Given the description of an element on the screen output the (x, y) to click on. 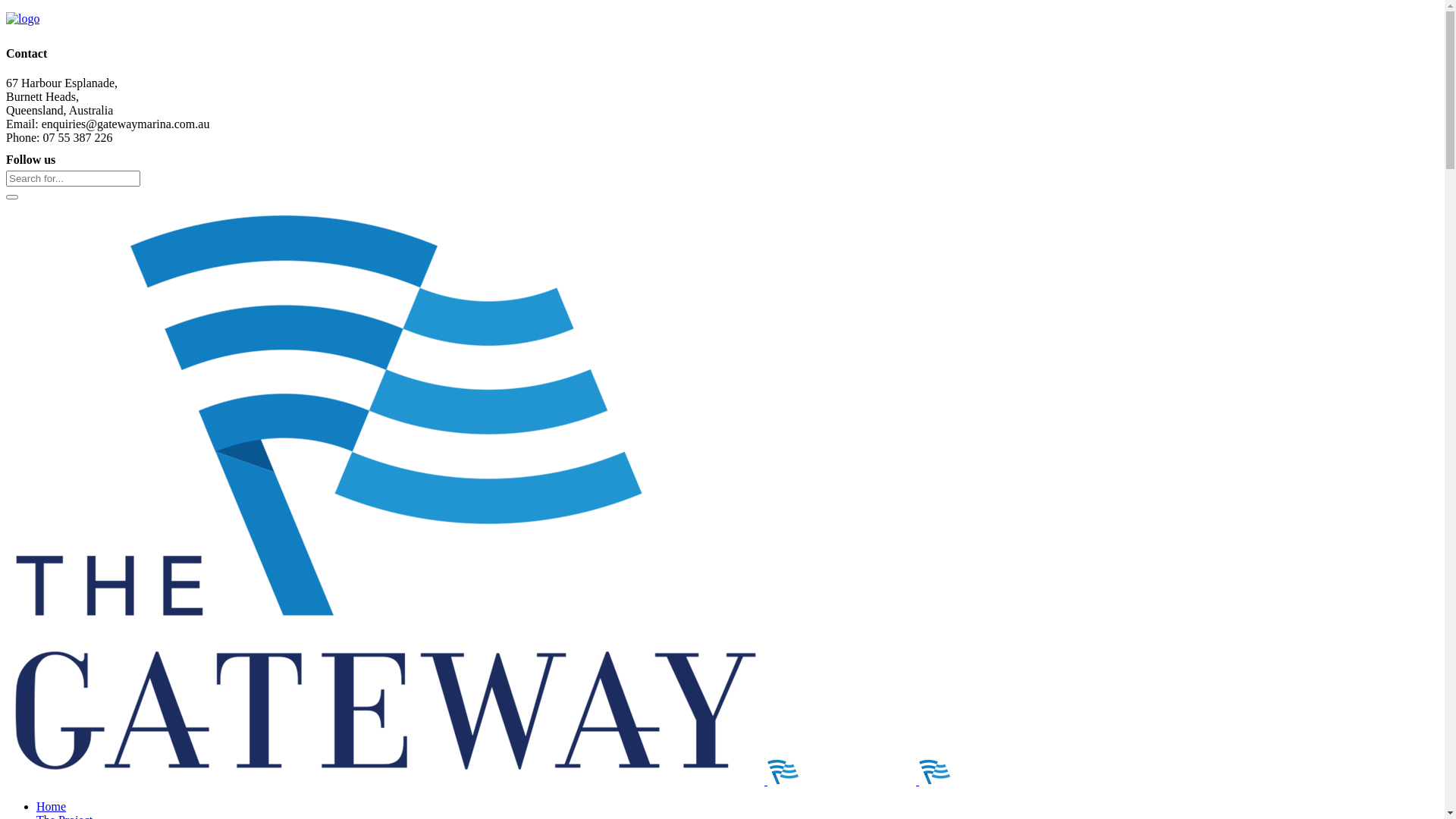
Home Element type: text (50, 806)
